Given the description of an element on the screen output the (x, y) to click on. 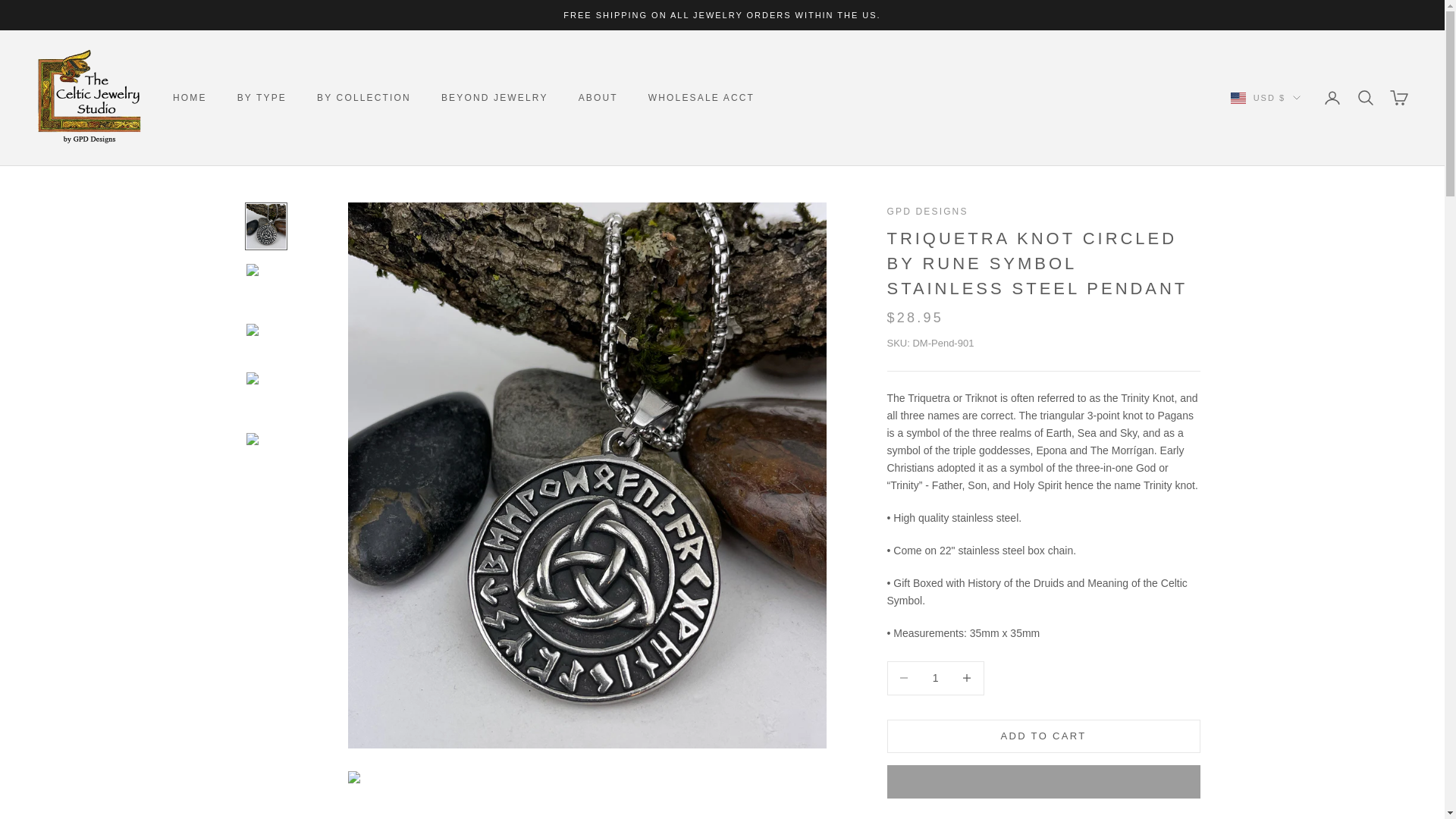
The Celtic Jewelry Studio (89, 97)
HOME (189, 97)
1 (935, 677)
BEYOND JEWELRY (494, 97)
